Given the description of an element on the screen output the (x, y) to click on. 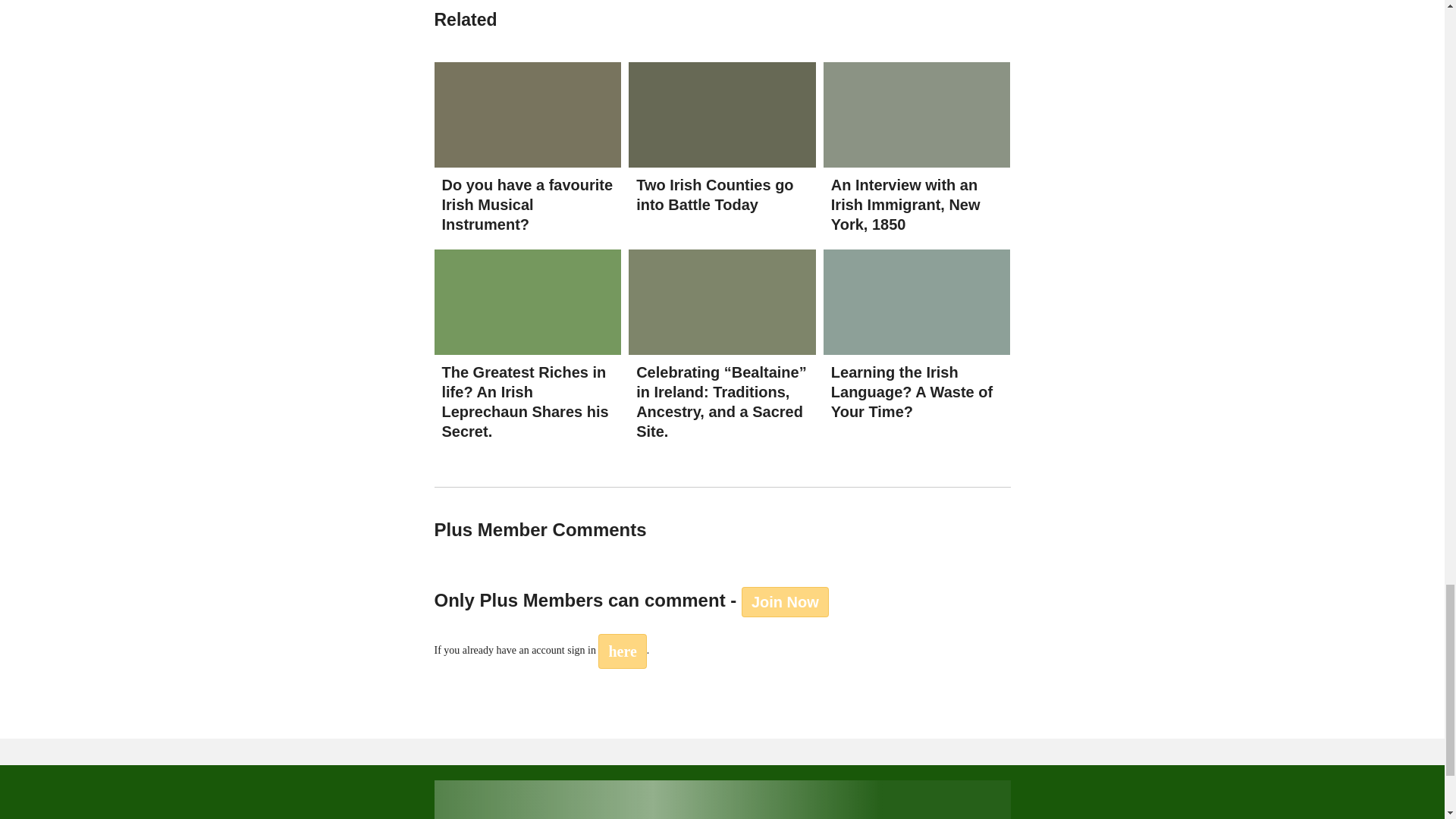
An Interview with an Irish Immigrant, New York, 1850 (917, 113)
Two Irish Counties go into Battle Today (721, 113)
Do you have a favourite Irish Musical Instrument? (526, 204)
Do you have a favourite Irish Musical Instrument? (527, 113)
An Interview with an Irish Immigrant, New York, 1850 (905, 204)
Two Irish Counties go into Battle Today (714, 194)
Two Irish Counties go into Battle Today (714, 194)
Do you have a favourite Irish Musical Instrument? (526, 204)
